Given the description of an element on the screen output the (x, y) to click on. 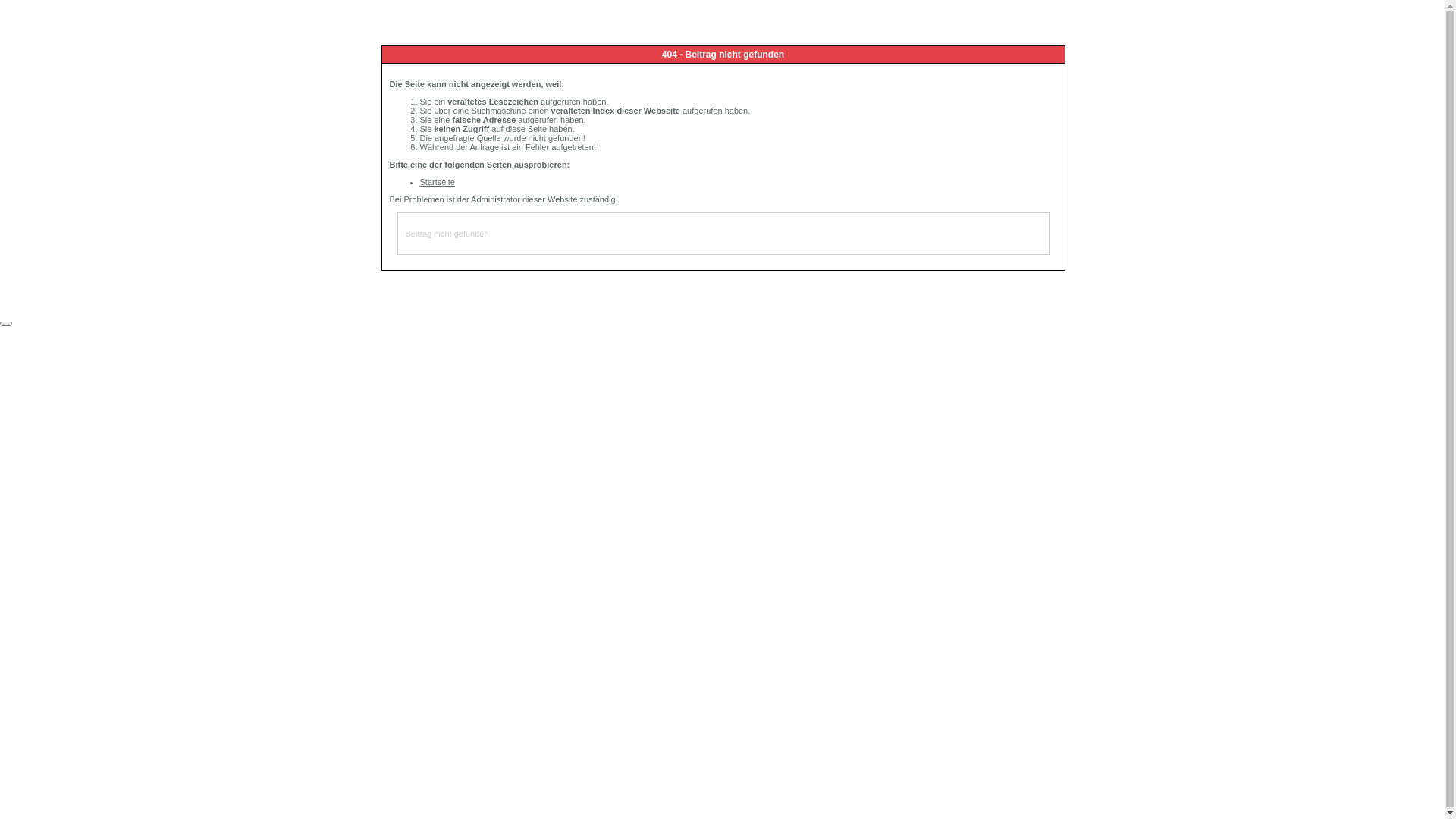
Startseite Element type: text (437, 181)
